Given the description of an element on the screen output the (x, y) to click on. 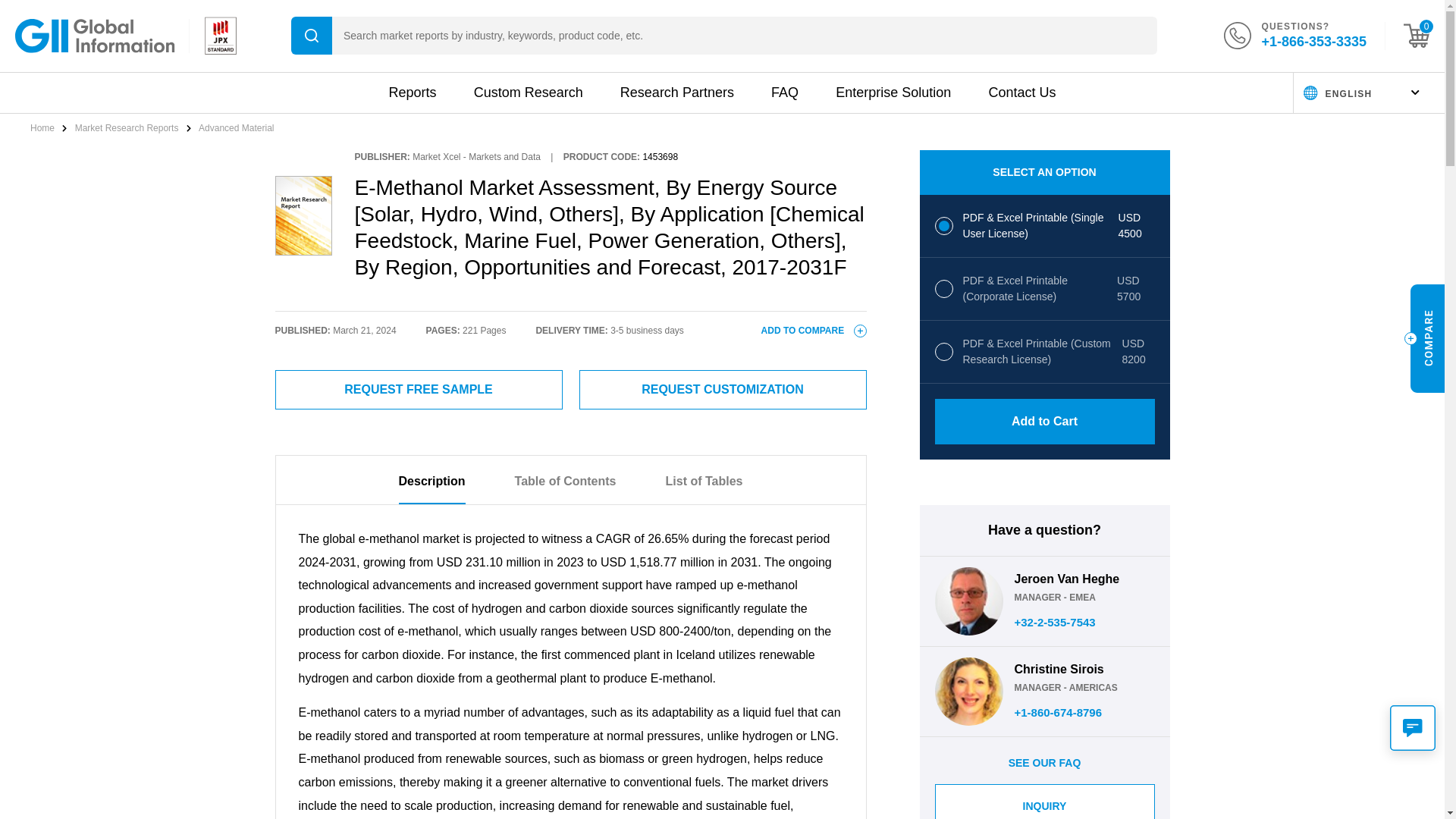
Custom Research (528, 92)
List of Tables (703, 489)
FAQ (784, 92)
REQUEST CUSTOMIZATION (722, 389)
Home (43, 127)
Table of Contents (565, 489)
ADD TO COMPARE (813, 330)
Research Partners (676, 92)
Enterprise Solution (892, 92)
Reports (411, 92)
